Given the description of an element on the screen output the (x, y) to click on. 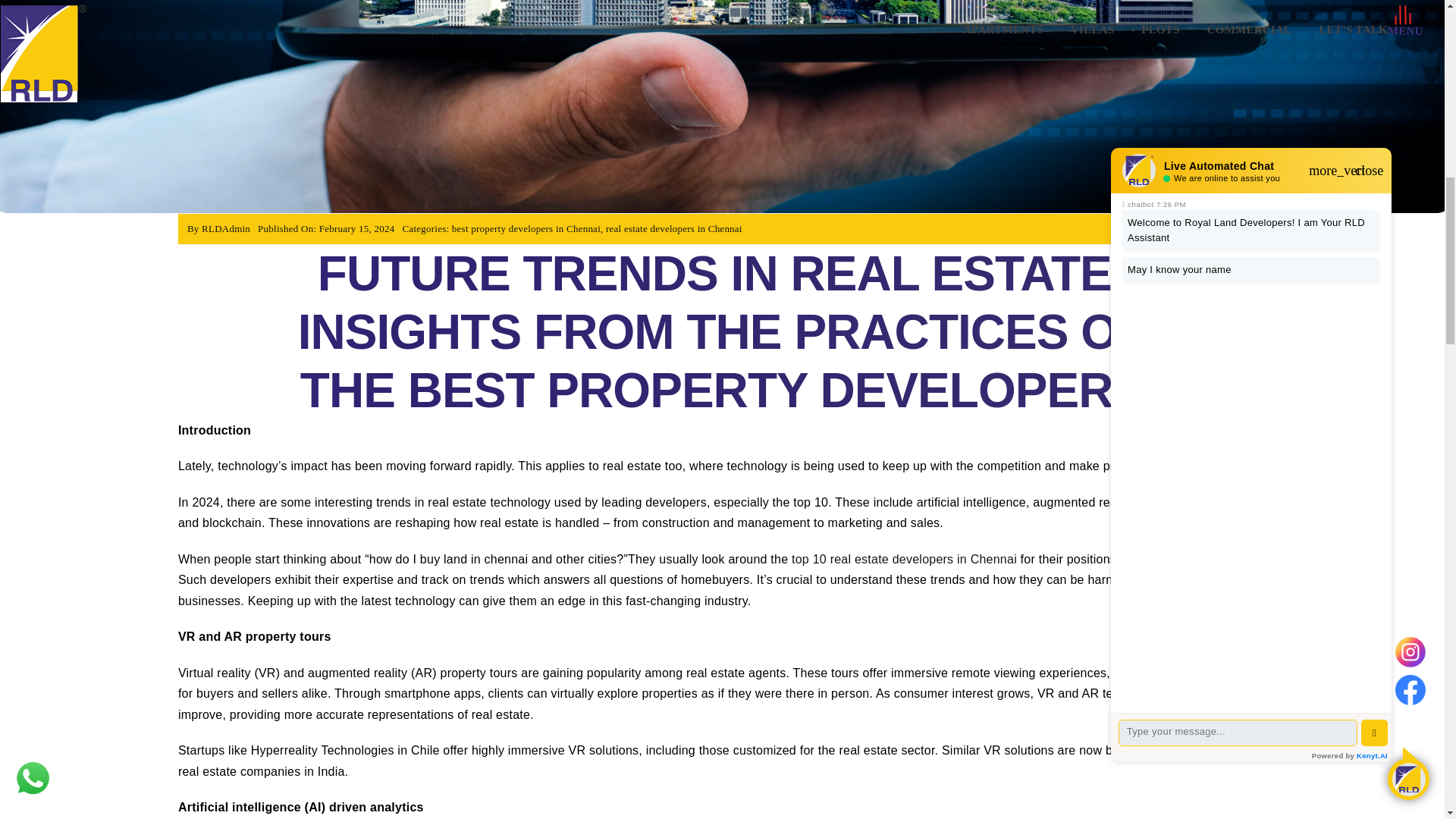
Posts by RLDAdmin (226, 228)
RLDAdmin (226, 228)
top 10 real estate developers in Chennai (904, 558)
real estate developers in Chennai (673, 228)
best property developers in Chennai (525, 228)
